Given the description of an element on the screen output the (x, y) to click on. 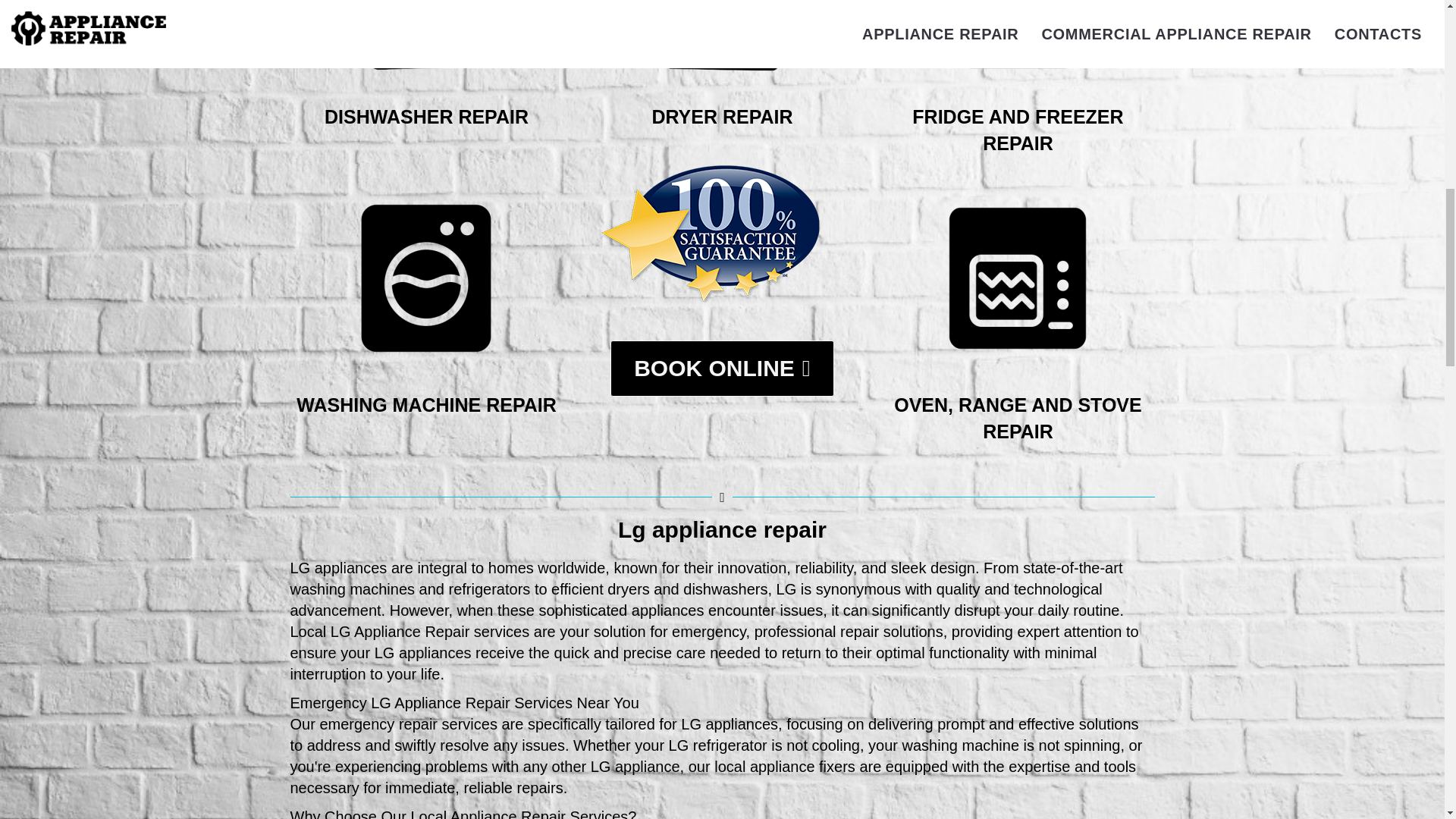
WASHING MACHINE REPAIR (426, 404)
OVEN, RANGE AND STOVE REPAIR (1017, 417)
DISHWASHER REPAIR (426, 116)
DRYER REPAIR (721, 116)
FRIDGE AND FREEZER REPAIR (1017, 129)
BOOK ONLINE (722, 368)
